Given the description of an element on the screen output the (x, y) to click on. 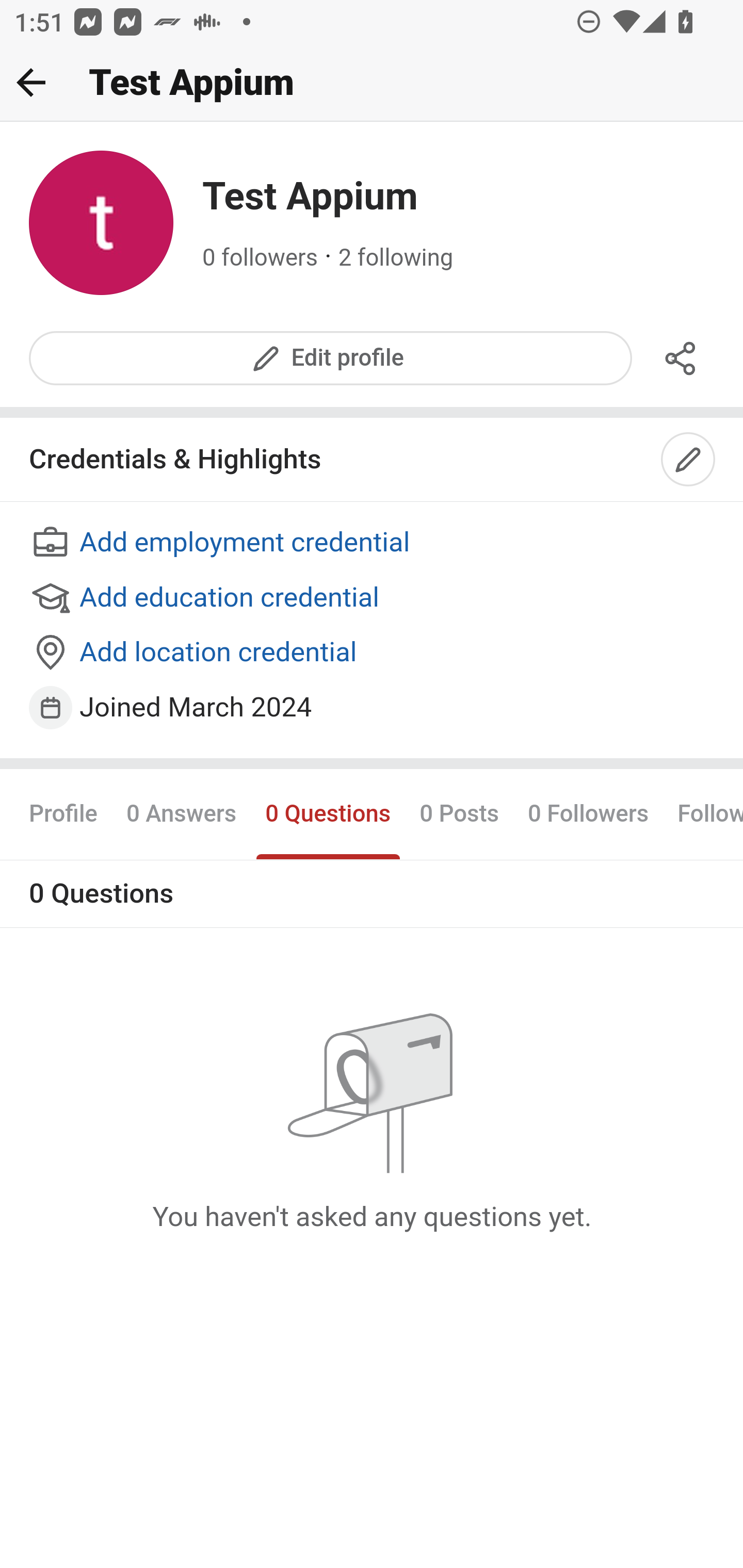
Back Test Appium (371, 82)
Back (30, 82)
0 followers (260, 257)
2 following (395, 257)
Share (681, 358)
Edit profile (330, 357)
Edit credentials (688, 459)
Add employment credential (372, 543)
Add education credential (372, 598)
Add location credential (372, 653)
Profile (63, 813)
0 Answers (180, 813)
0 Questions (327, 813)
0 Posts (459, 813)
0 Followers (588, 813)
